Given the description of an element on the screen output the (x, y) to click on. 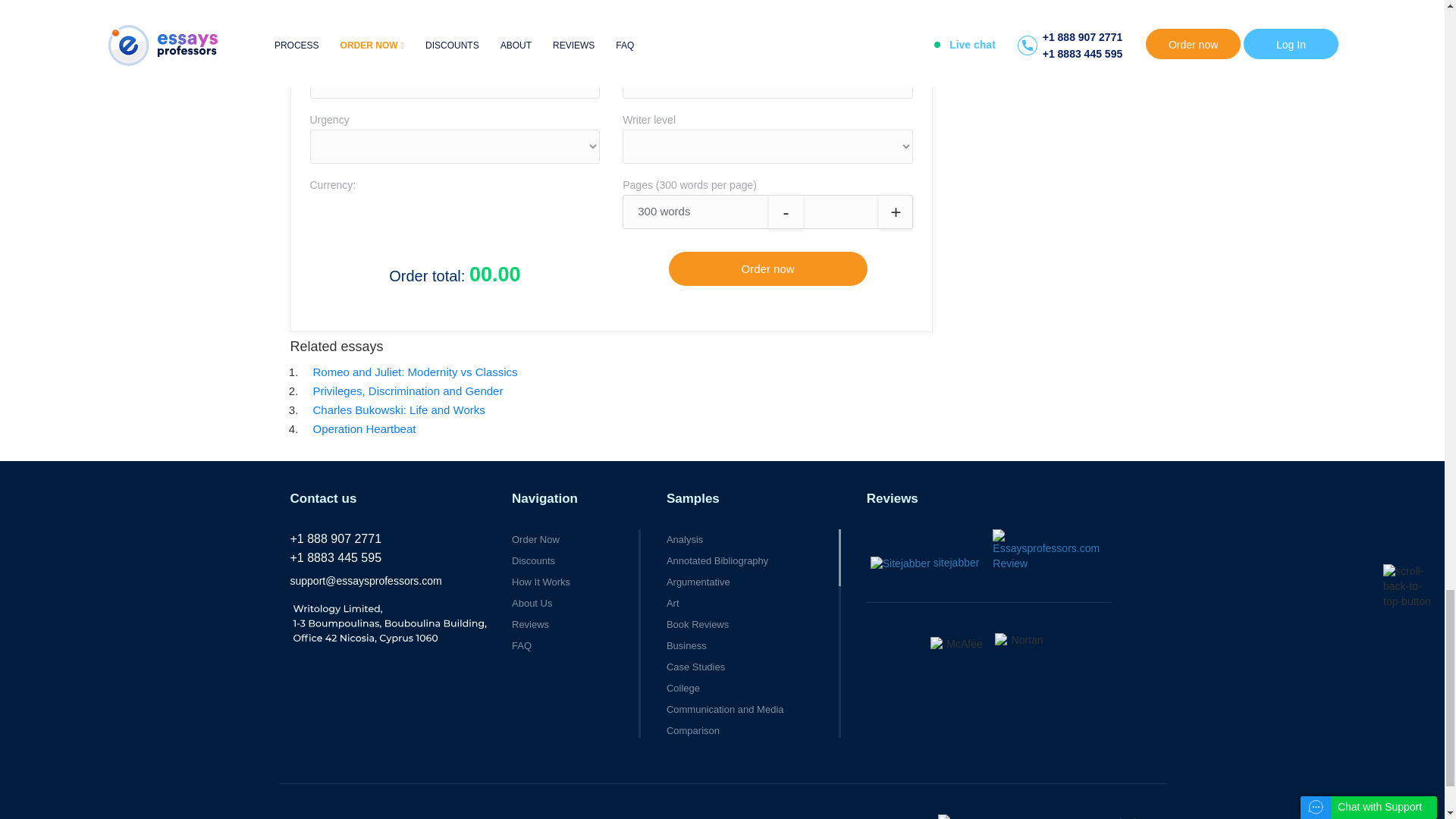
Order now (767, 268)
